Given the description of an element on the screen output the (x, y) to click on. 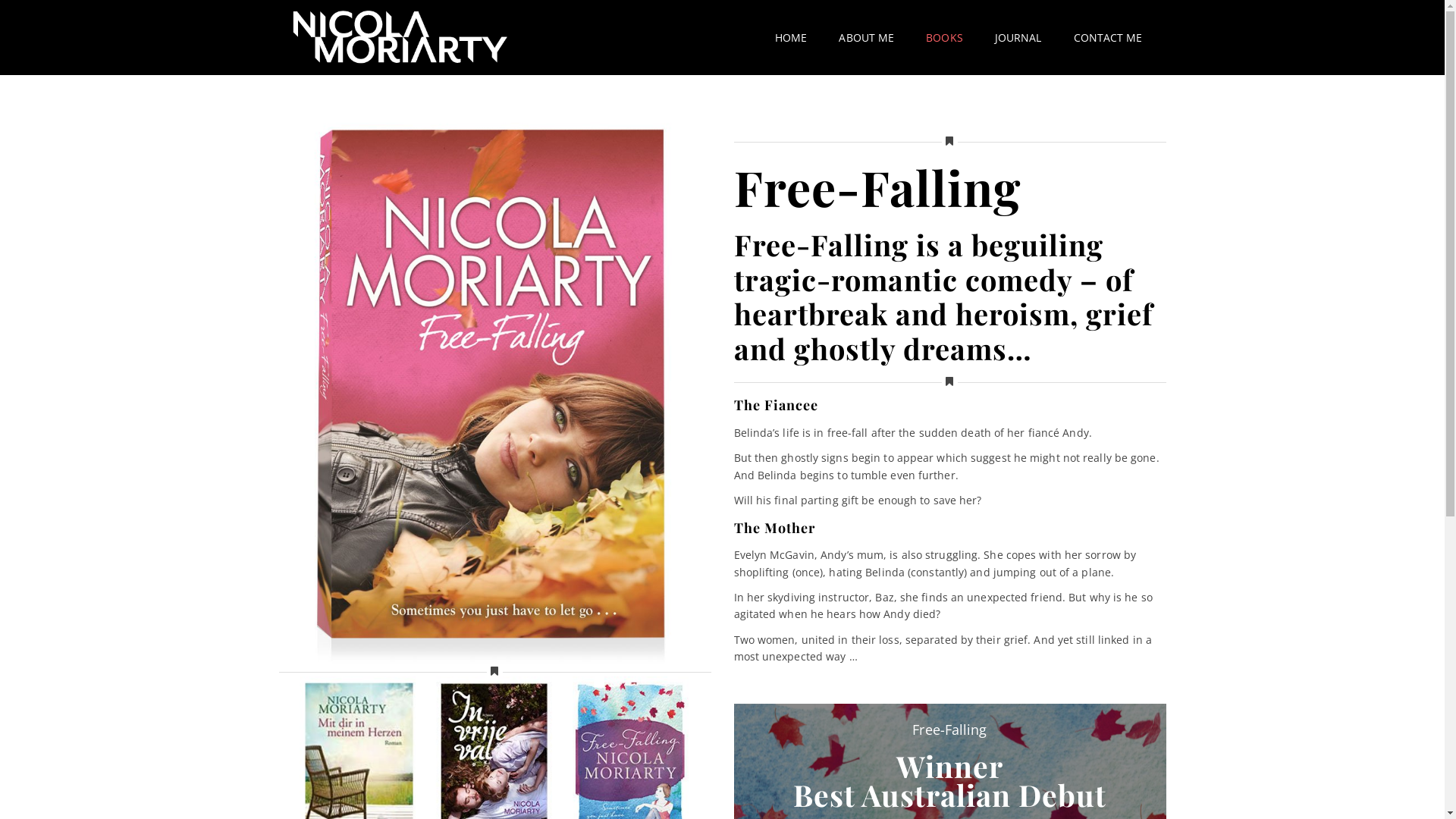
CONTACT ME Element type: text (1107, 37)
JOURNAL Element type: text (1018, 37)
HOME Element type: text (790, 37)
ABOUT ME Element type: text (866, 37)
BOOKS Element type: text (944, 37)
